Given the description of an element on the screen output the (x, y) to click on. 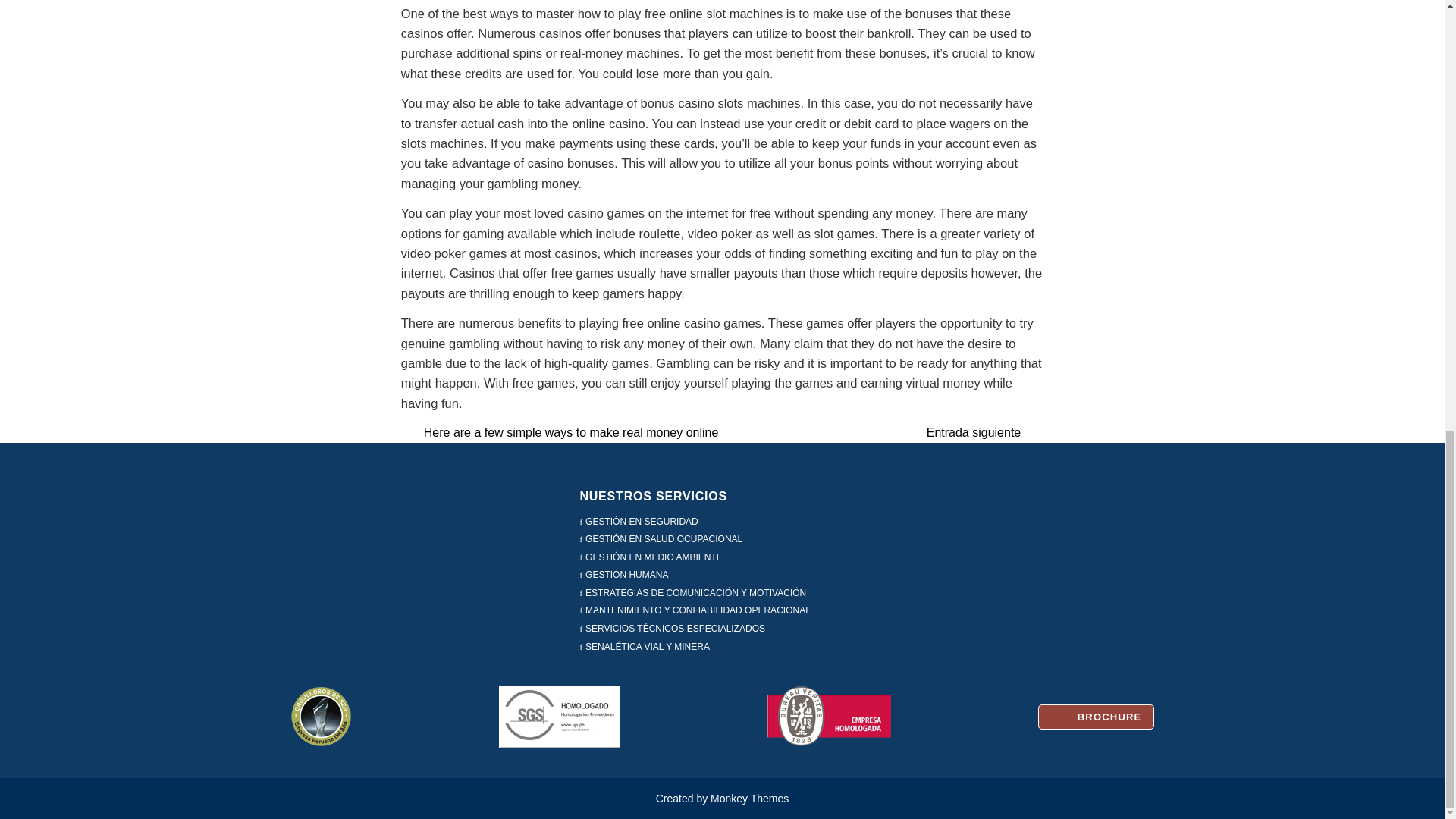
MANTENIMIENTO Y CONFIABILIDAD OPERACIONAL (974, 431)
  BROCHURE (698, 610)
